Given the description of an element on the screen output the (x, y) to click on. 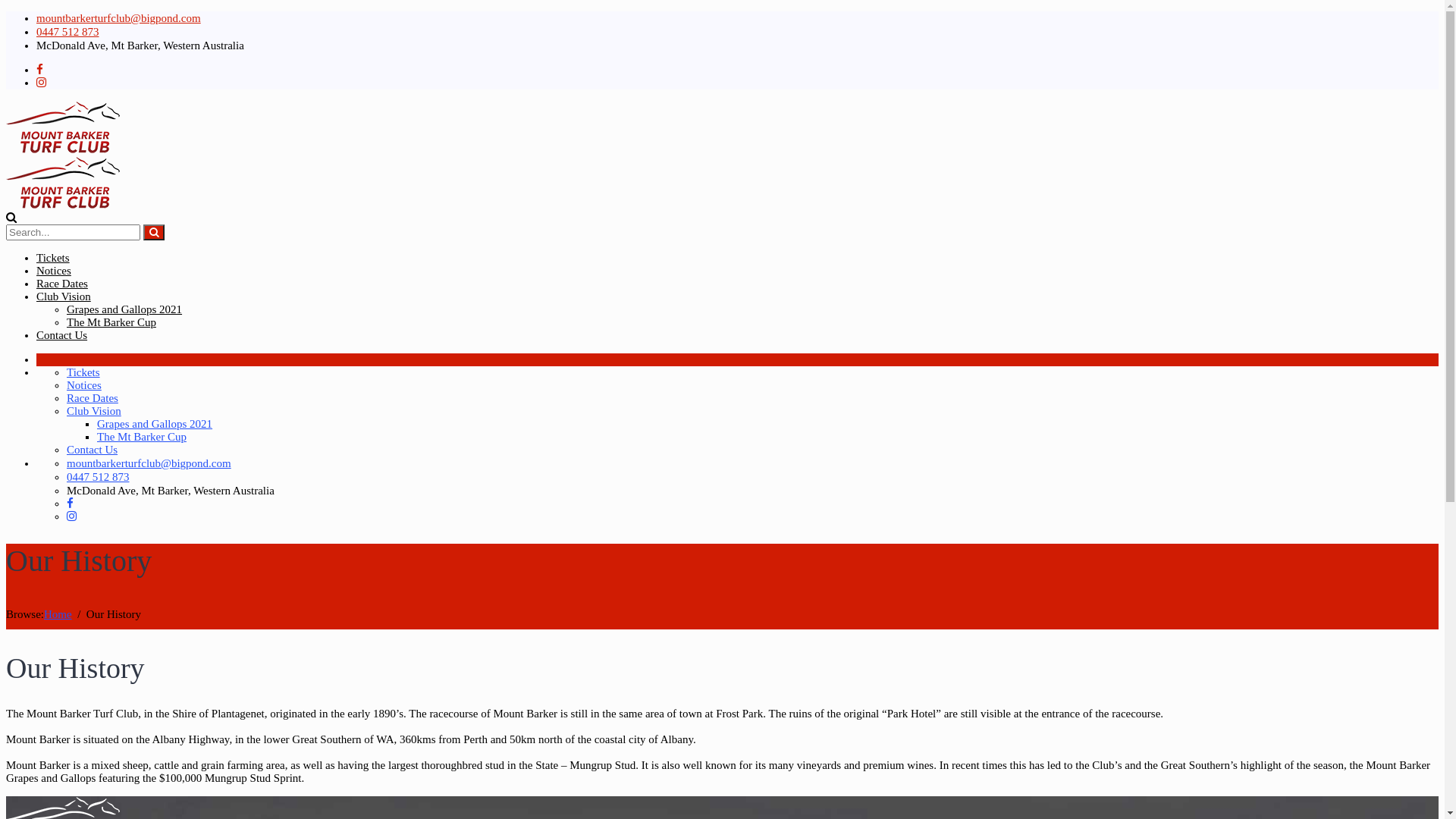
mountbarkerturfclub@bigpond.com Element type: text (118, 18)
The Mt Barker Cup Element type: text (141, 436)
Home Element type: text (57, 614)
Grapes and Gallops 2021 Element type: text (154, 423)
Race Dates Element type: text (61, 283)
Race Dates Element type: text (92, 398)
Tickets Element type: text (52, 257)
Club Vision Element type: text (93, 410)
0447 512 873 Element type: text (67, 31)
Contact Us Element type: text (91, 449)
0447 512 873 Element type: text (97, 476)
Tickets Element type: text (83, 372)
The Mt Barker Cup Element type: text (111, 322)
Contact Us Element type: text (61, 335)
Grapes and Gallops 2021 Element type: text (124, 309)
Club Vision Element type: text (63, 296)
Notices Element type: text (53, 270)
Notices Element type: text (83, 385)
mountbarkerturfclub@bigpond.com Element type: text (148, 463)
Search Element type: text (153, 232)
